Given the description of an element on the screen output the (x, y) to click on. 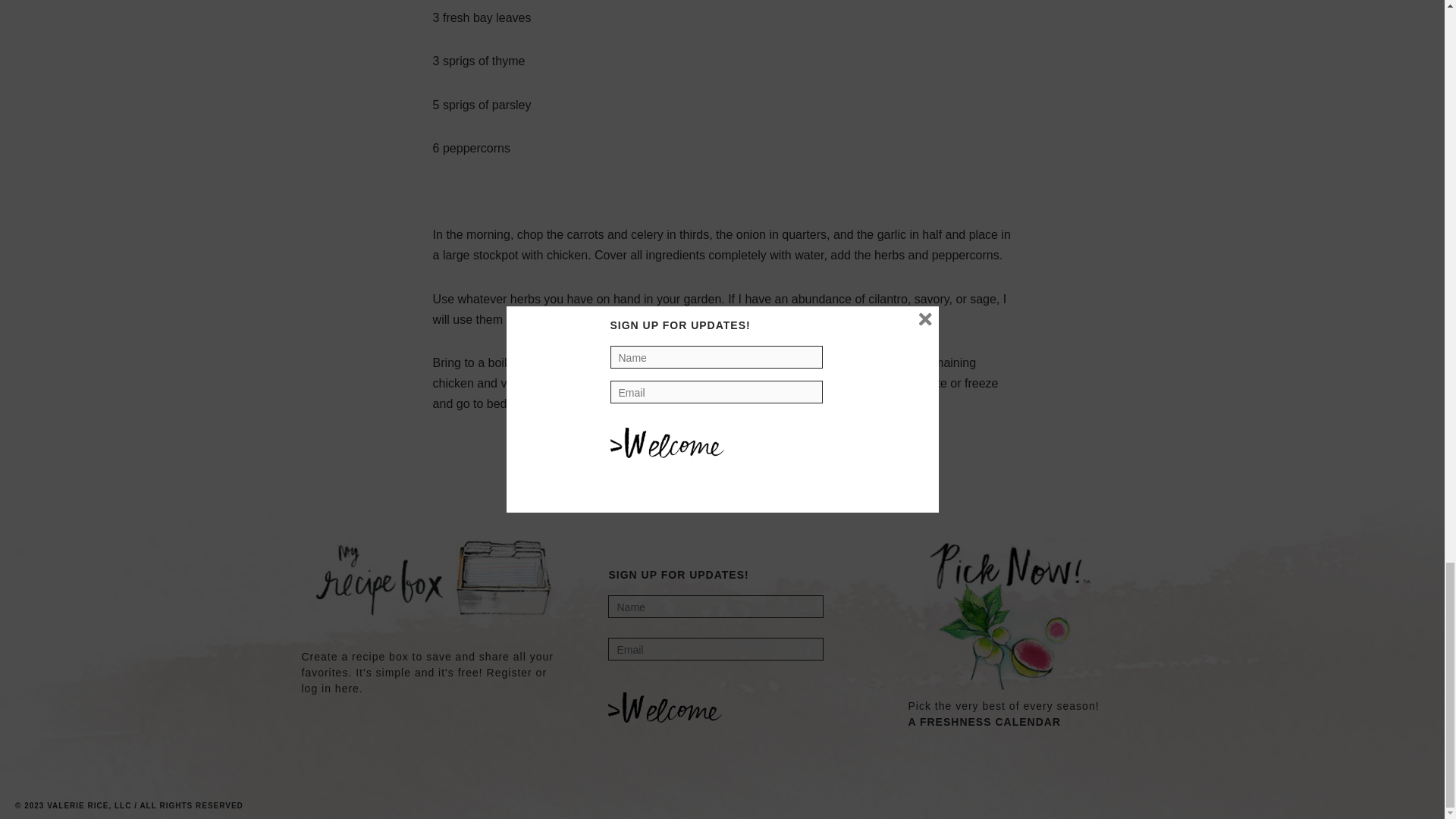
log in here (330, 688)
Register (509, 672)
